Given the description of an element on the screen output the (x, y) to click on. 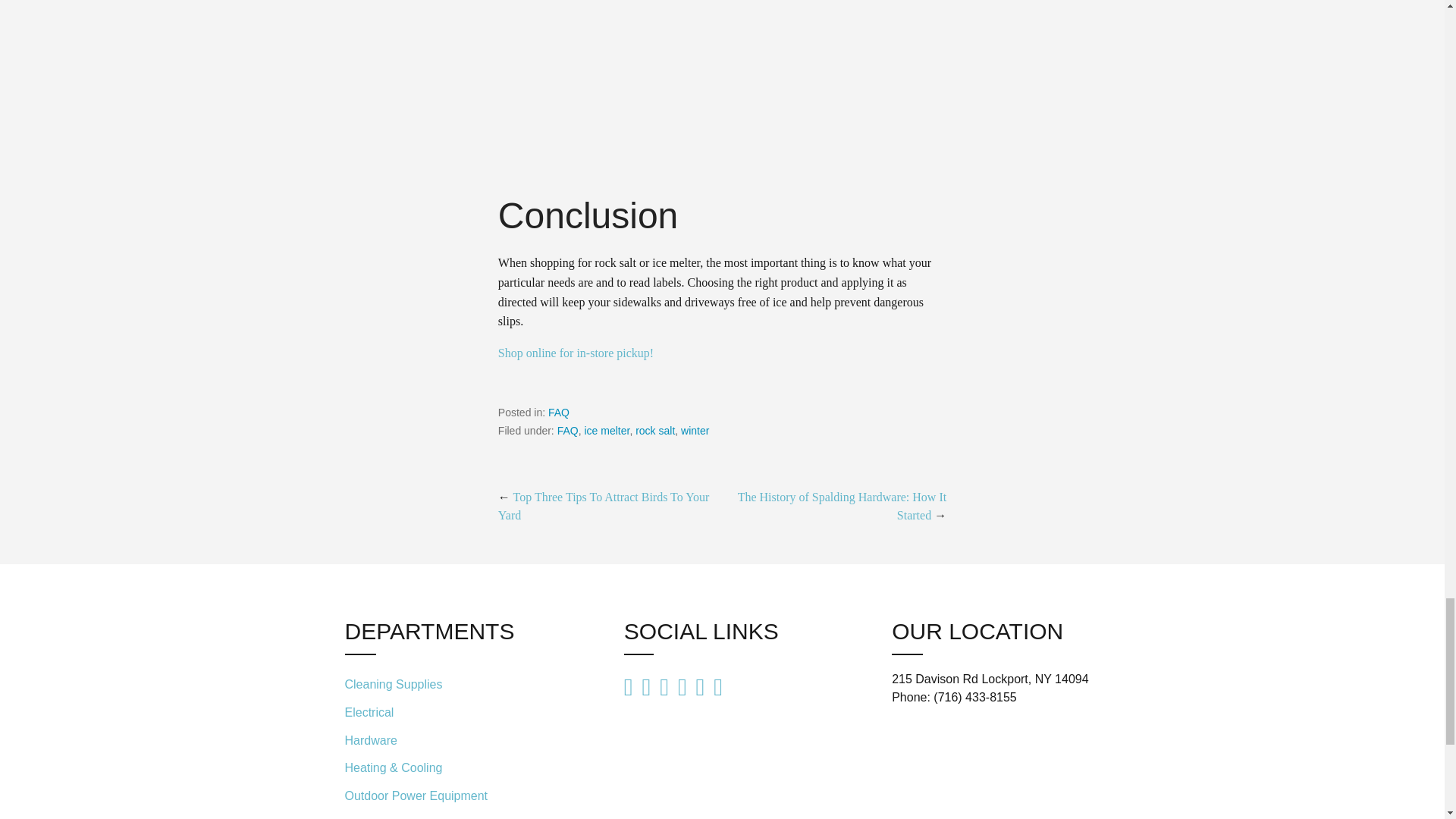
Visit Spalding Ace Hardware on Pinterest (646, 687)
Visit Spalding Ace Hardware on LinkedIn (663, 687)
Visit Spalding Ace Hardware on YouTube (628, 687)
Visit Spalding Ace Hardware on Facebook (717, 685)
FAQ (558, 412)
Visit Spalding Ace Hardware on Twitter (699, 687)
FAQ (567, 430)
Shop online for in-store pickup! (575, 352)
